Given the description of an element on the screen output the (x, y) to click on. 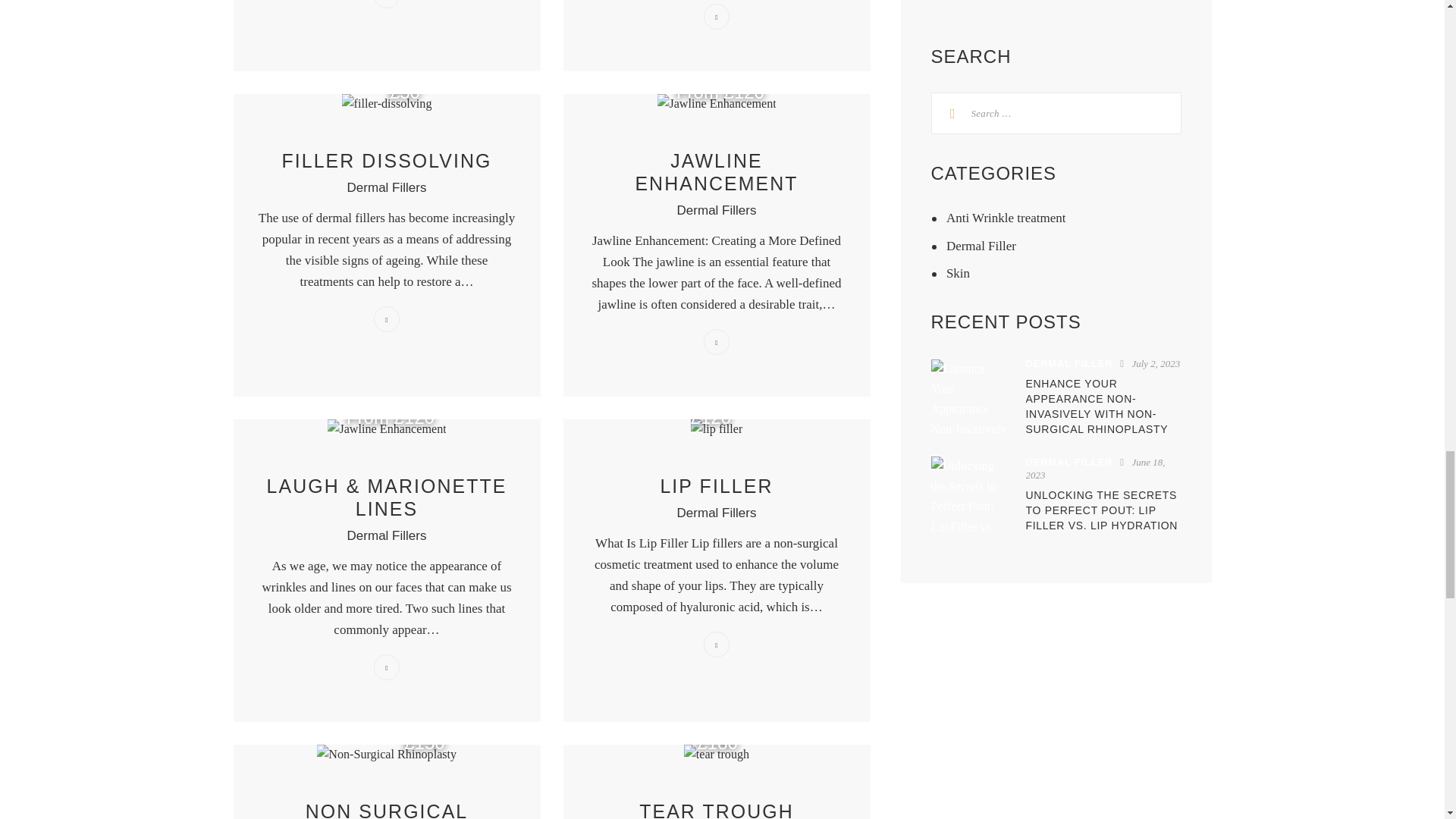
View all posts in Dermal Fillers (386, 187)
View all posts in Dermal Fillers (386, 535)
View all posts in Dermal Fillers (717, 210)
View all posts in Dermal Fillers (717, 513)
